Given the description of an element on the screen output the (x, y) to click on. 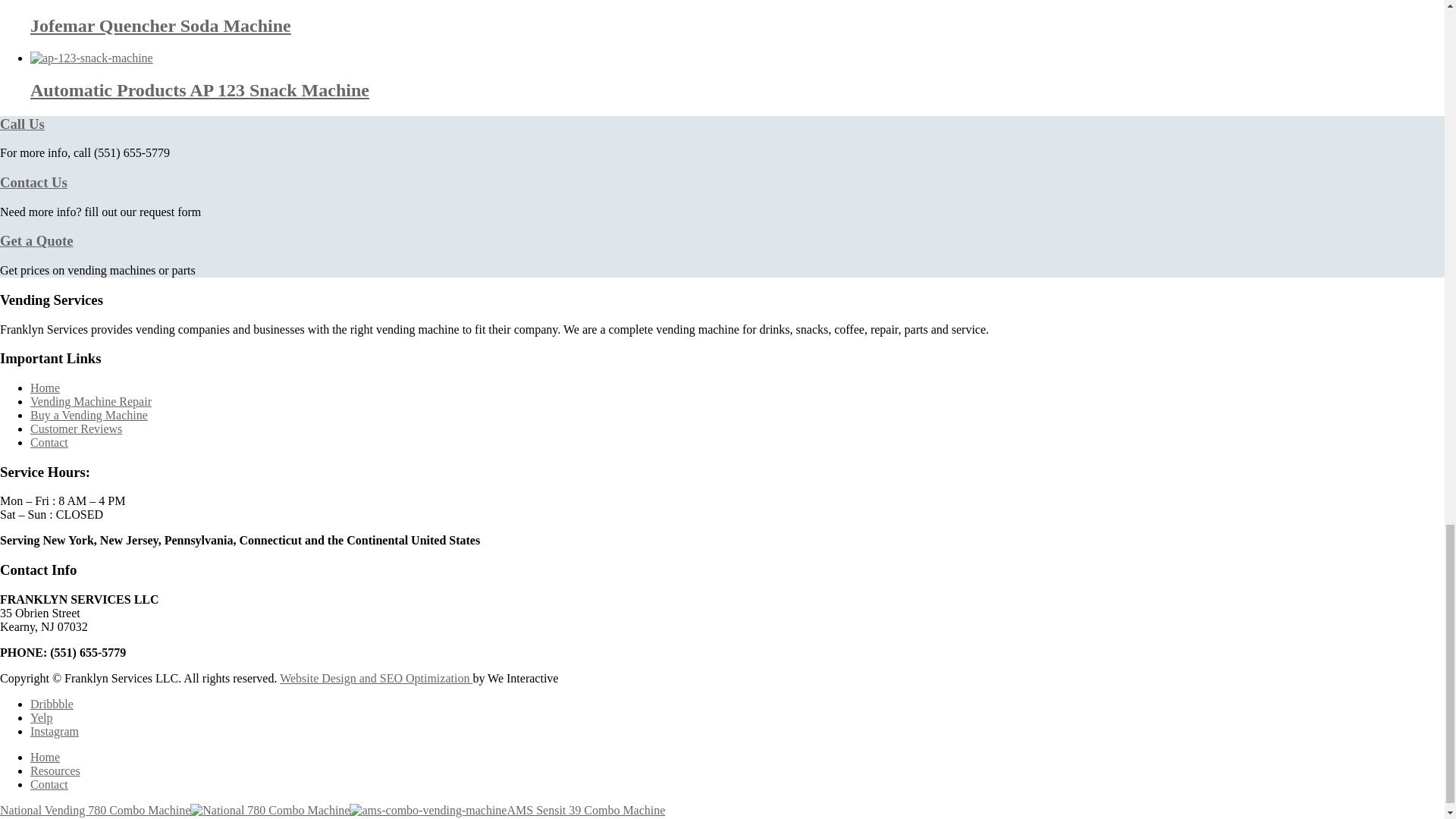
Contact Us (33, 182)
Call Us (22, 123)
Get a Quote (37, 240)
